Given the description of an element on the screen output the (x, y) to click on. 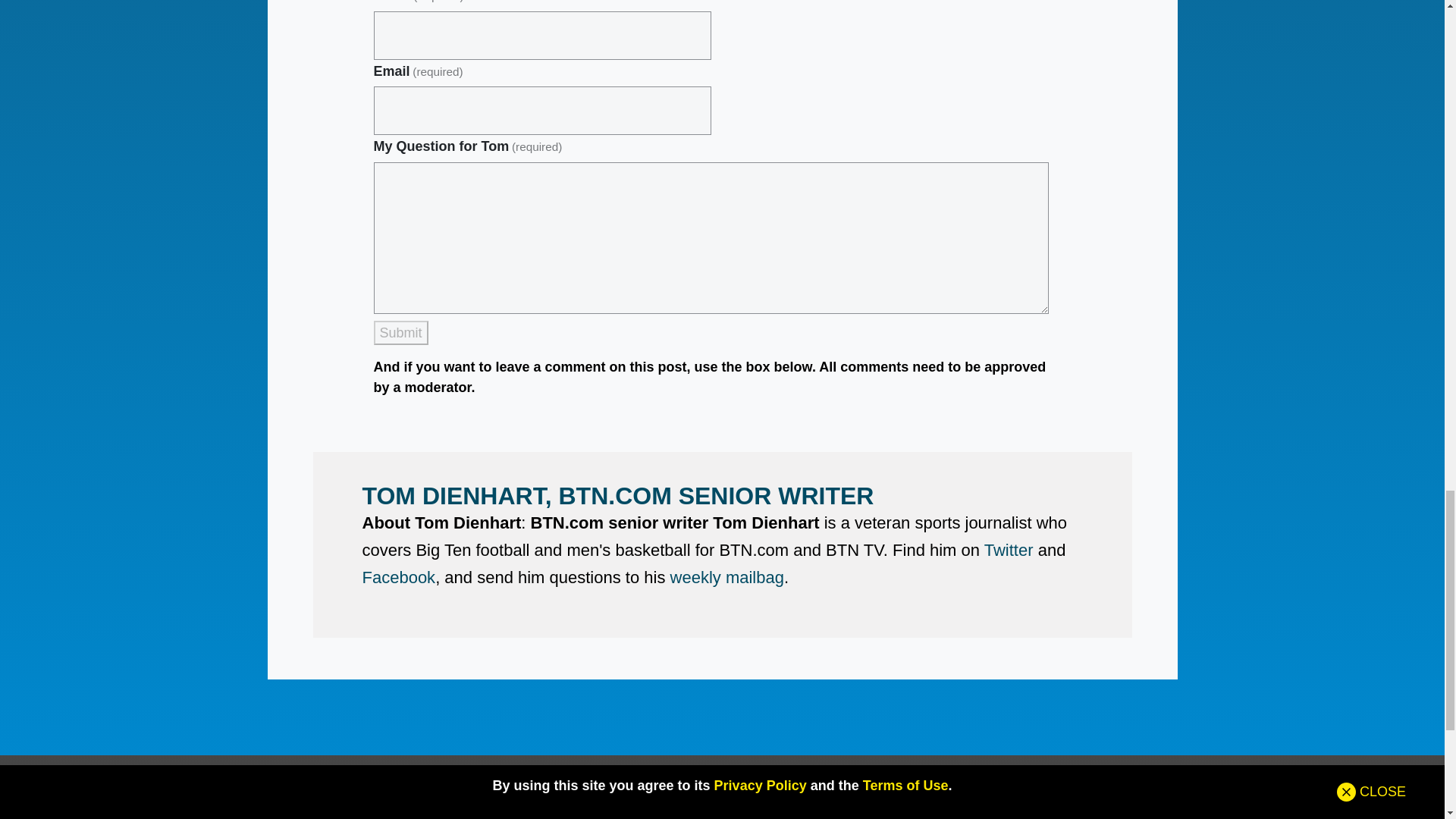
About (327, 231)
Licensing (327, 276)
icon-base-livebig-mobile (45, 177)
For the Media (327, 299)
Icon-base-btn-plus-mobile (45, 132)
Careers (327, 322)
Social Media (1012, 231)
SEARCH (818, 217)
FAQ (1012, 253)
BTN on Linktree (327, 344)
